Given the description of an element on the screen output the (x, y) to click on. 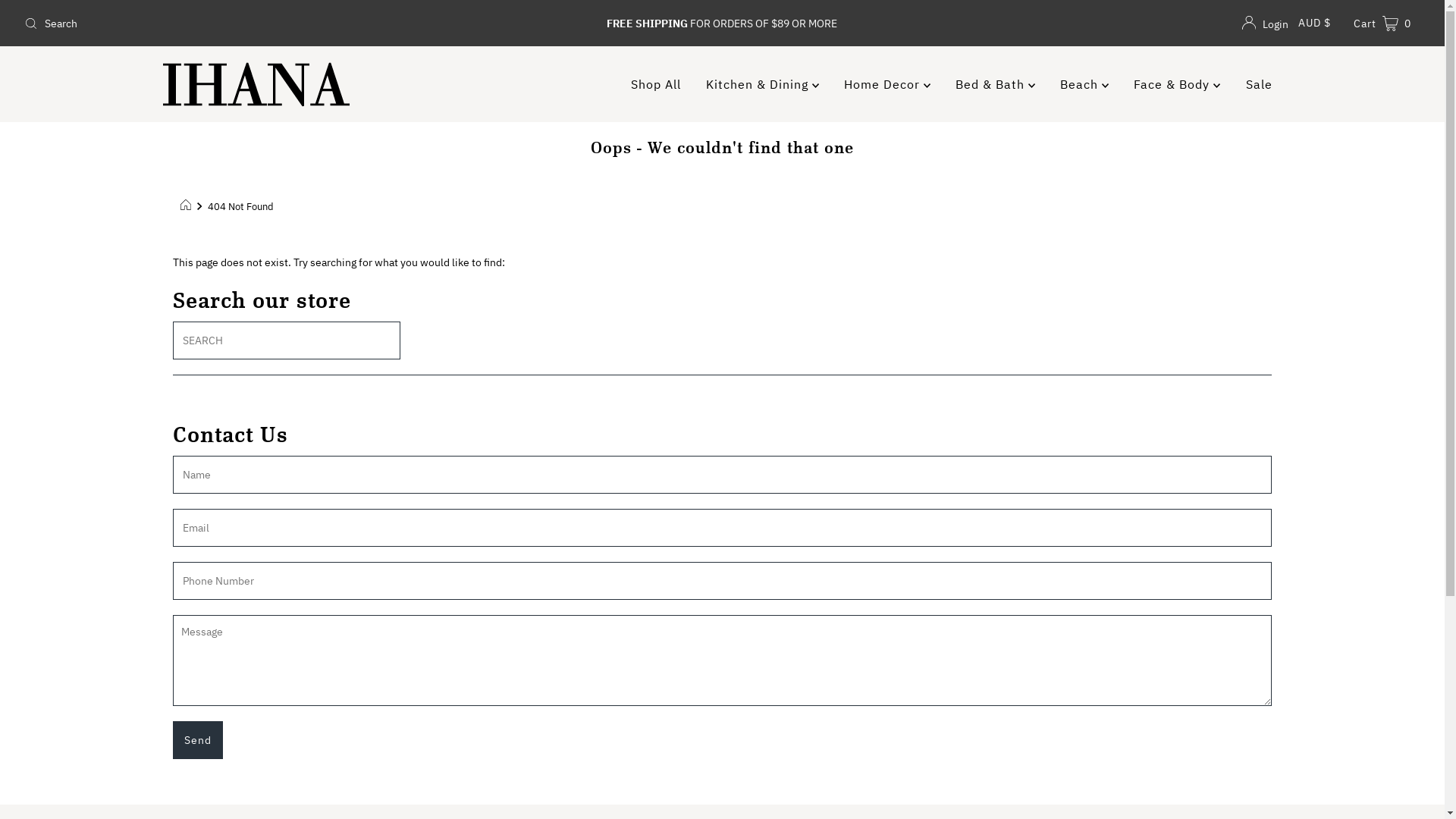
Send Element type: text (197, 740)
Sale Element type: text (1258, 83)
AUD $ Element type: text (1314, 22)
Shop All Element type: text (655, 83)
